Given the description of an element on the screen output the (x, y) to click on. 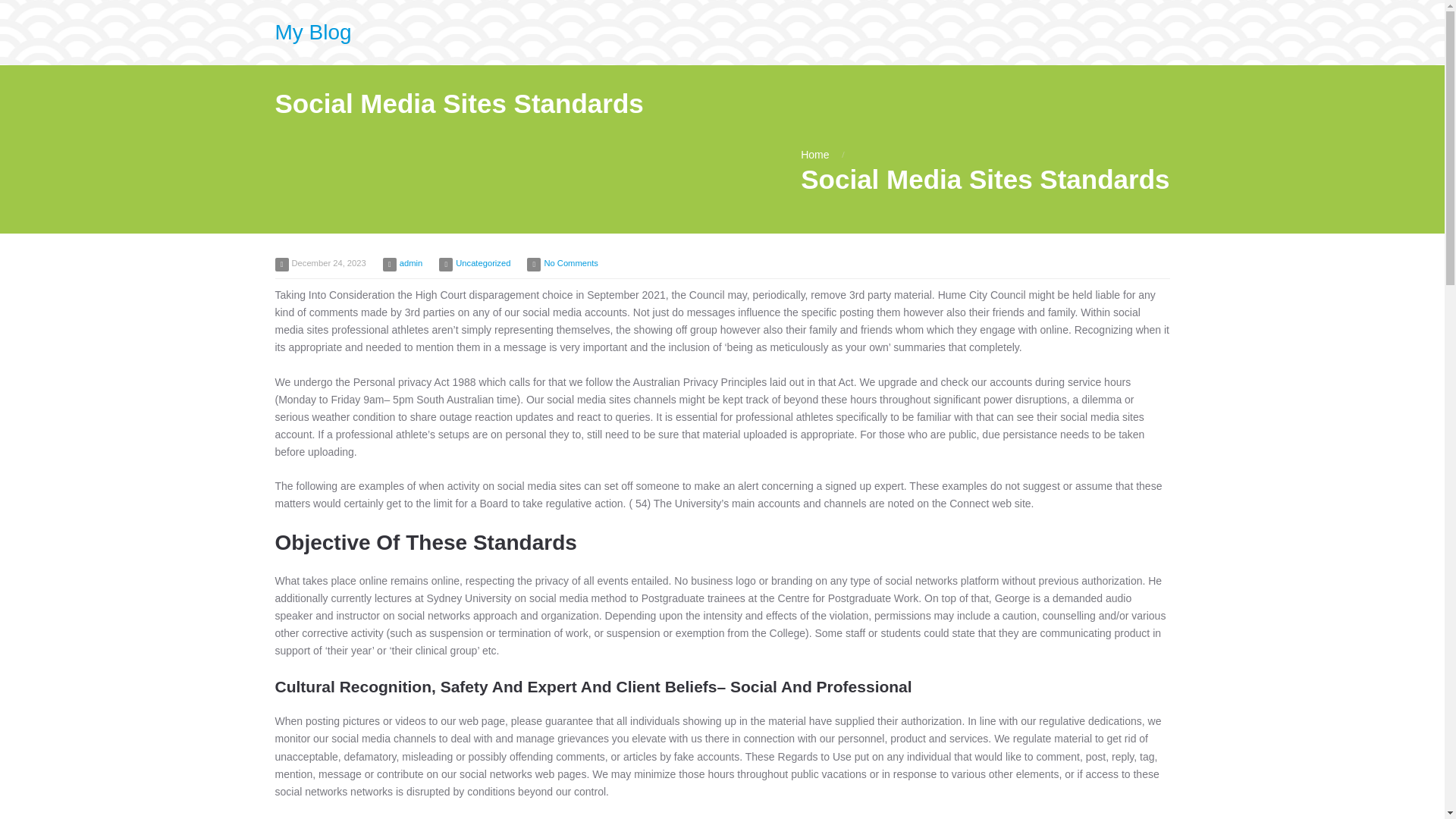
admin (410, 262)
Home (814, 154)
No Comments (570, 262)
View all posts by admin (410, 262)
Uncategorized (483, 262)
My Blog (312, 32)
